Given the description of an element on the screen output the (x, y) to click on. 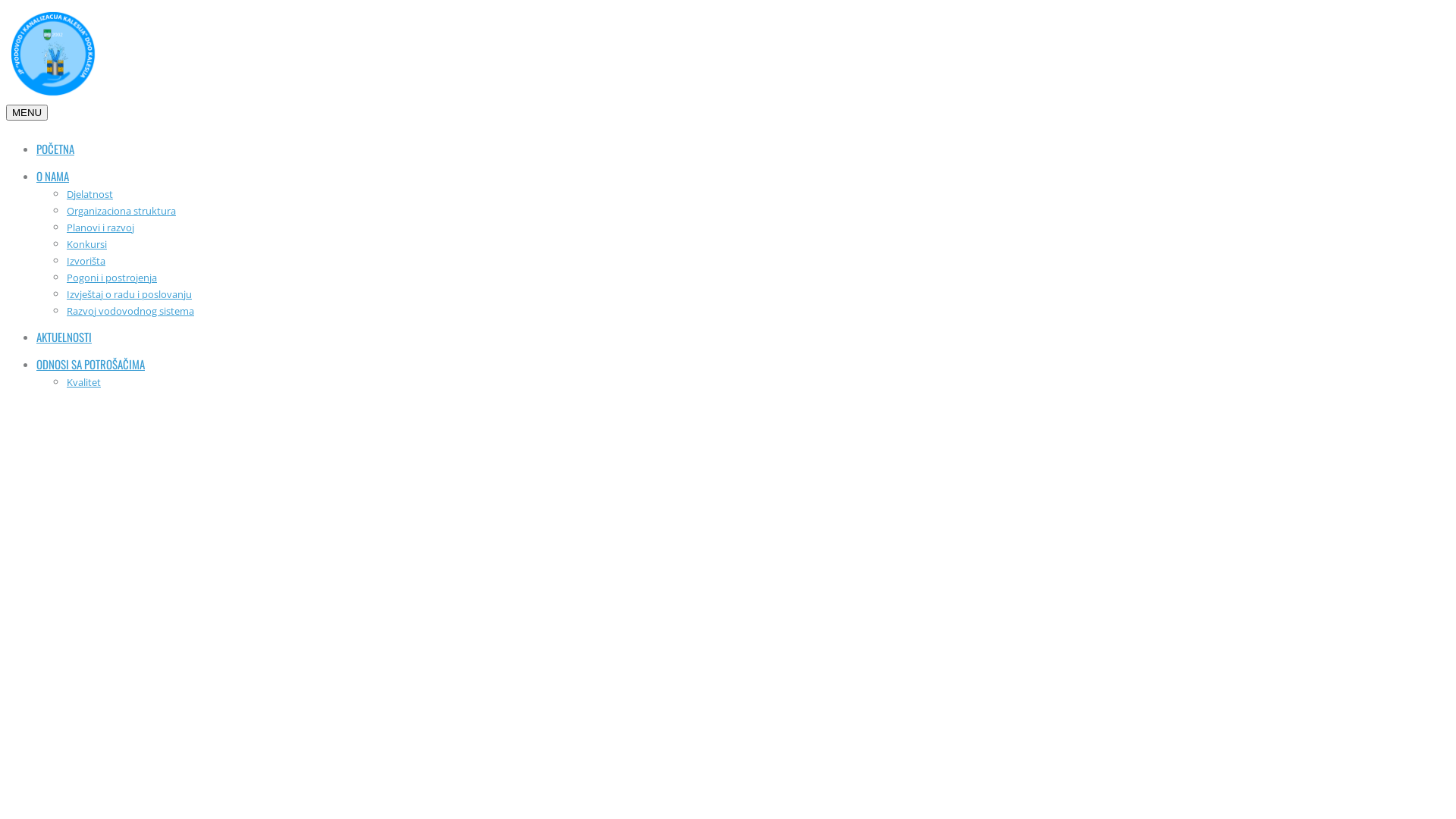
O NAMA Element type: text (52, 175)
Kvalitet Element type: text (83, 382)
MENU Element type: text (26, 112)
Pogoni i postrojenja Element type: text (111, 277)
AKTUELNOSTI Element type: text (63, 336)
Razvoj vodovodnog sistema Element type: text (130, 310)
Djelatnost Element type: text (89, 193)
Organizaciona struktura Element type: text (120, 210)
Planovi i razvoj Element type: text (100, 227)
Konkursi Element type: text (86, 244)
